Given the description of an element on the screen output the (x, y) to click on. 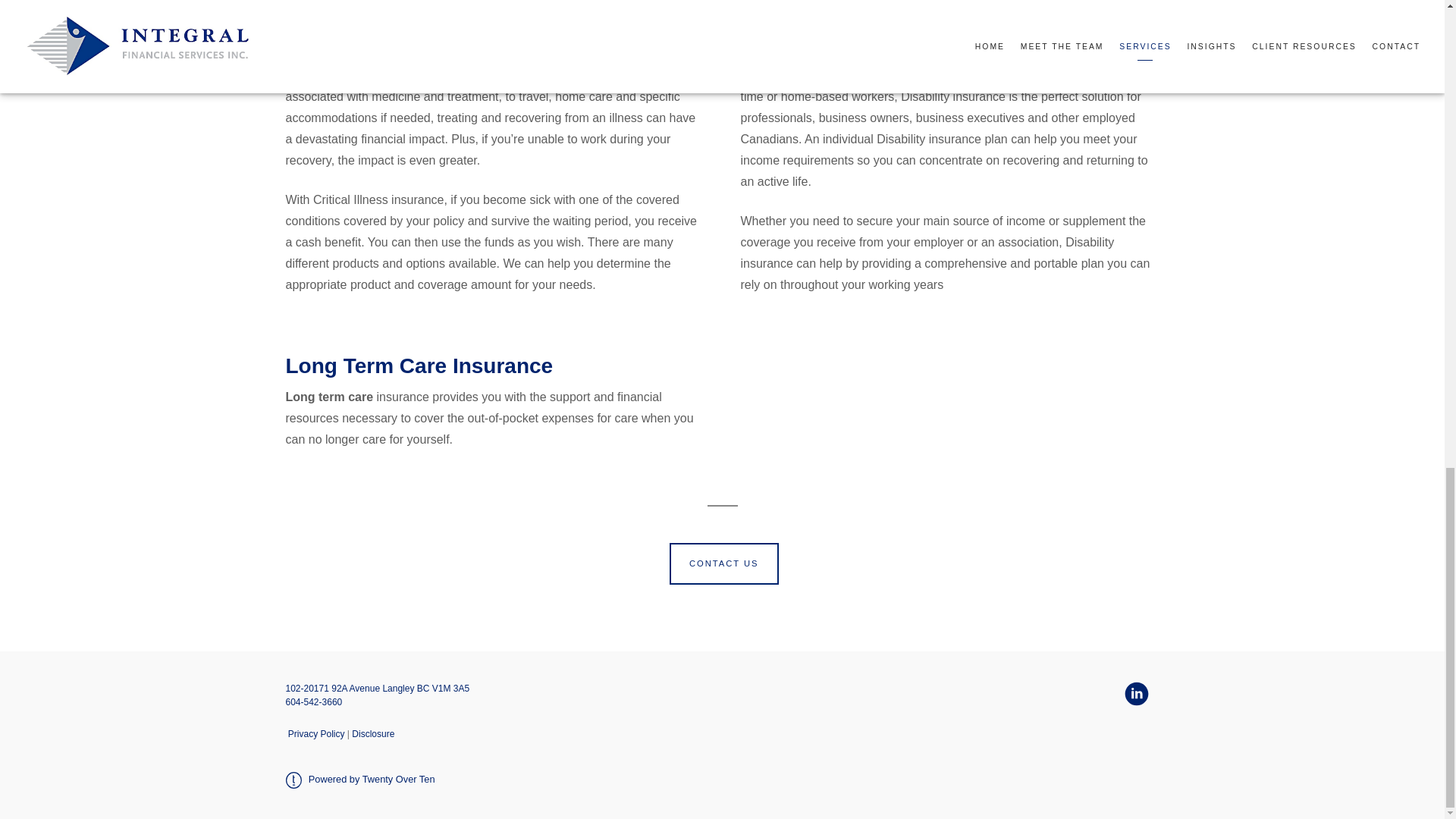
Privacy Policy (316, 733)
Powered by Twenty Over Ten (359, 778)
CONTACT US (723, 563)
Disclosure (373, 733)
